Given the description of an element on the screen output the (x, y) to click on. 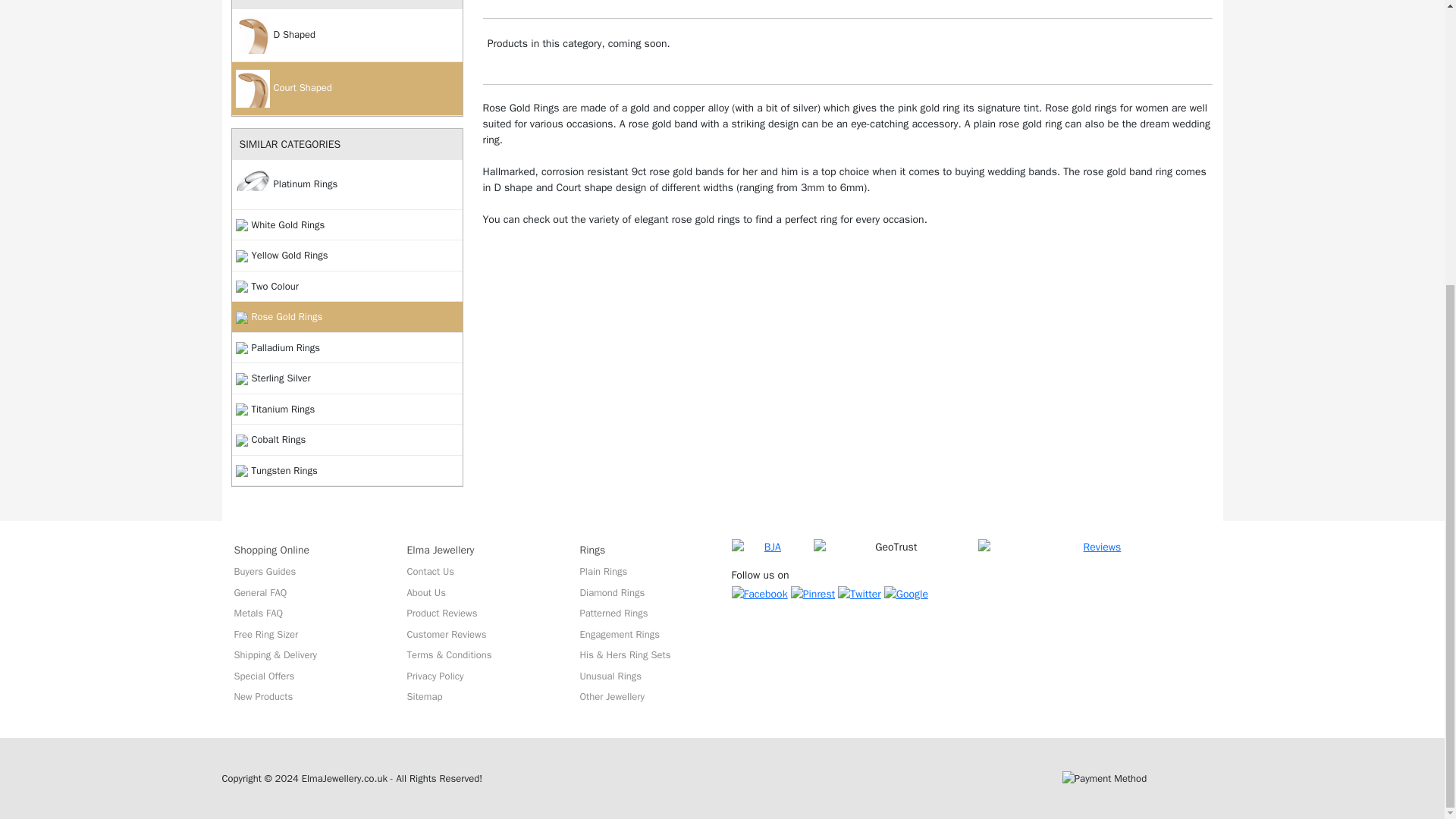
Two Colour (347, 286)
D Shaped (347, 35)
Platinum Rings (347, 184)
Court Shaped (347, 88)
Yellow Gold Rings (347, 255)
White Gold Rings (347, 224)
Rose Gold Rings (347, 317)
